Given the description of an element on the screen output the (x, y) to click on. 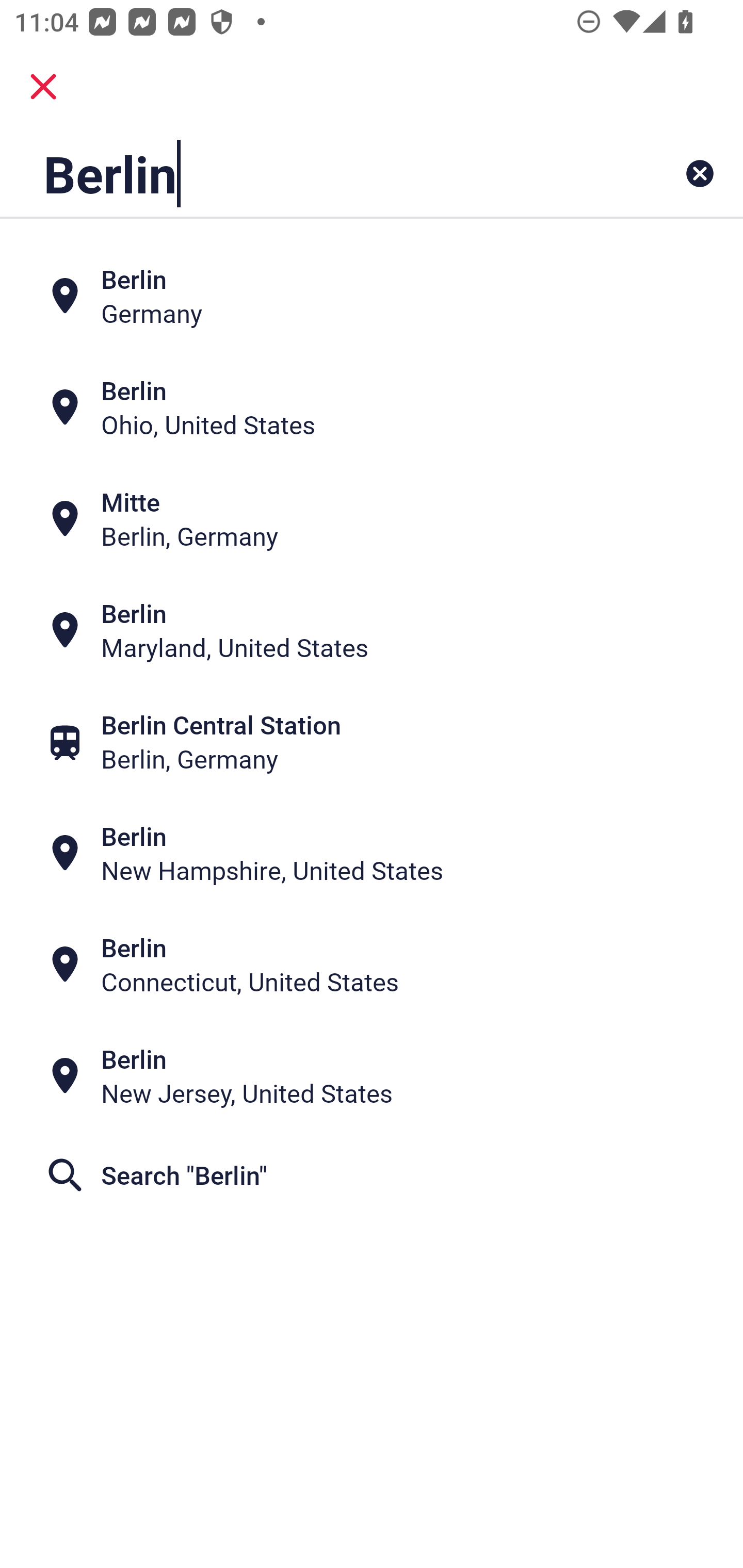
close. (43, 86)
Clear (699, 173)
Berlin (306, 173)
Berlin Germany (371, 295)
Berlin Ohio, United States (371, 406)
Mitte Berlin, Germany (371, 517)
Berlin Maryland, United States (371, 629)
Berlin Central Station Berlin, Germany (371, 742)
Berlin New Hampshire, United States (371, 853)
Berlin Connecticut, United States (371, 964)
Berlin New Jersey, United States (371, 1076)
Search "Berlin" (371, 1175)
